Given the description of an element on the screen output the (x, y) to click on. 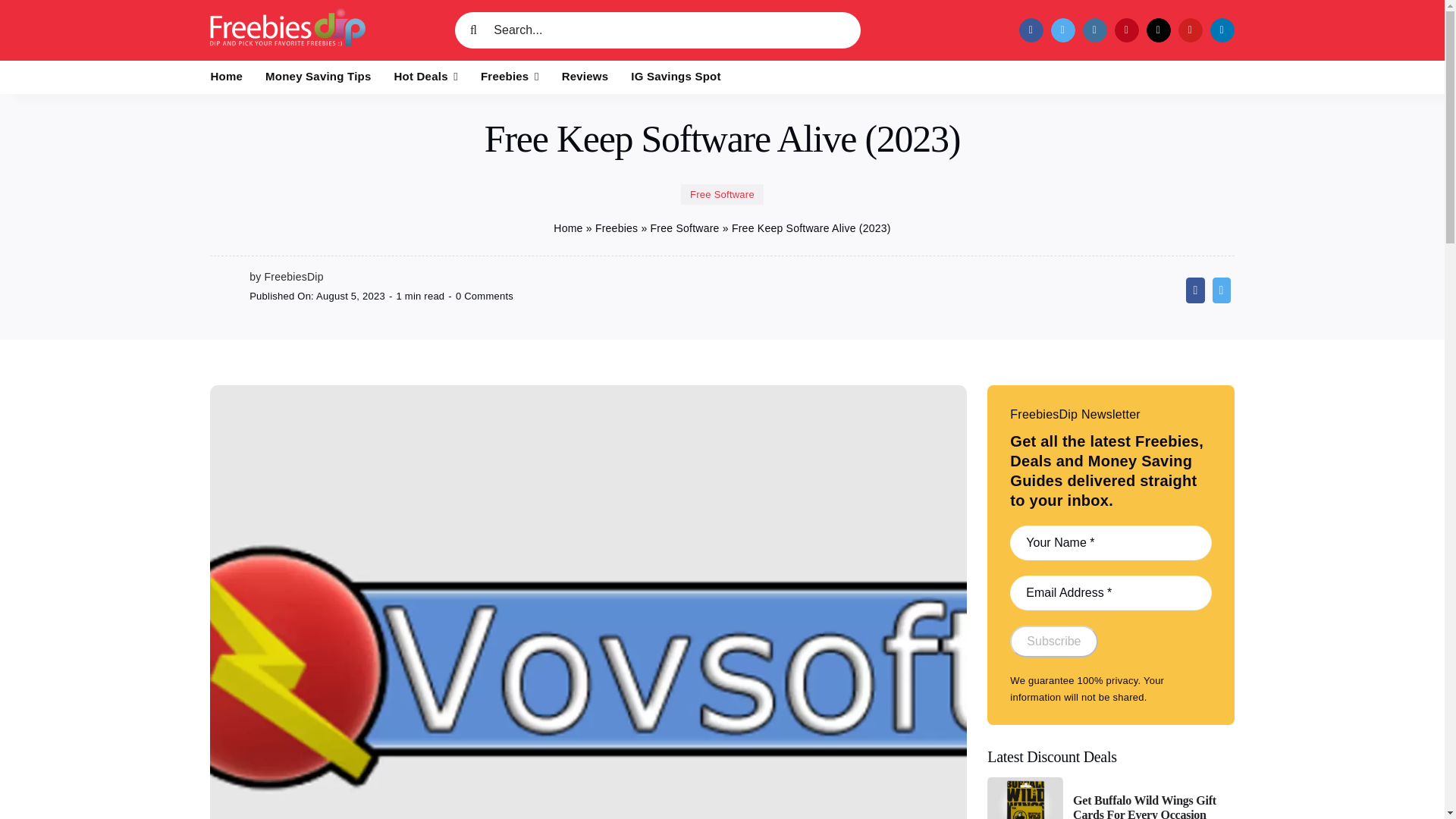
Hot Deals (426, 77)
Home (227, 77)
Twitter (1063, 30)
Facebook (1031, 30)
LinkedIn (1221, 30)
Instagram (1094, 30)
YouTube (1189, 30)
Money Saving Tips (317, 77)
Tiktok (1158, 30)
